Given the description of an element on the screen output the (x, y) to click on. 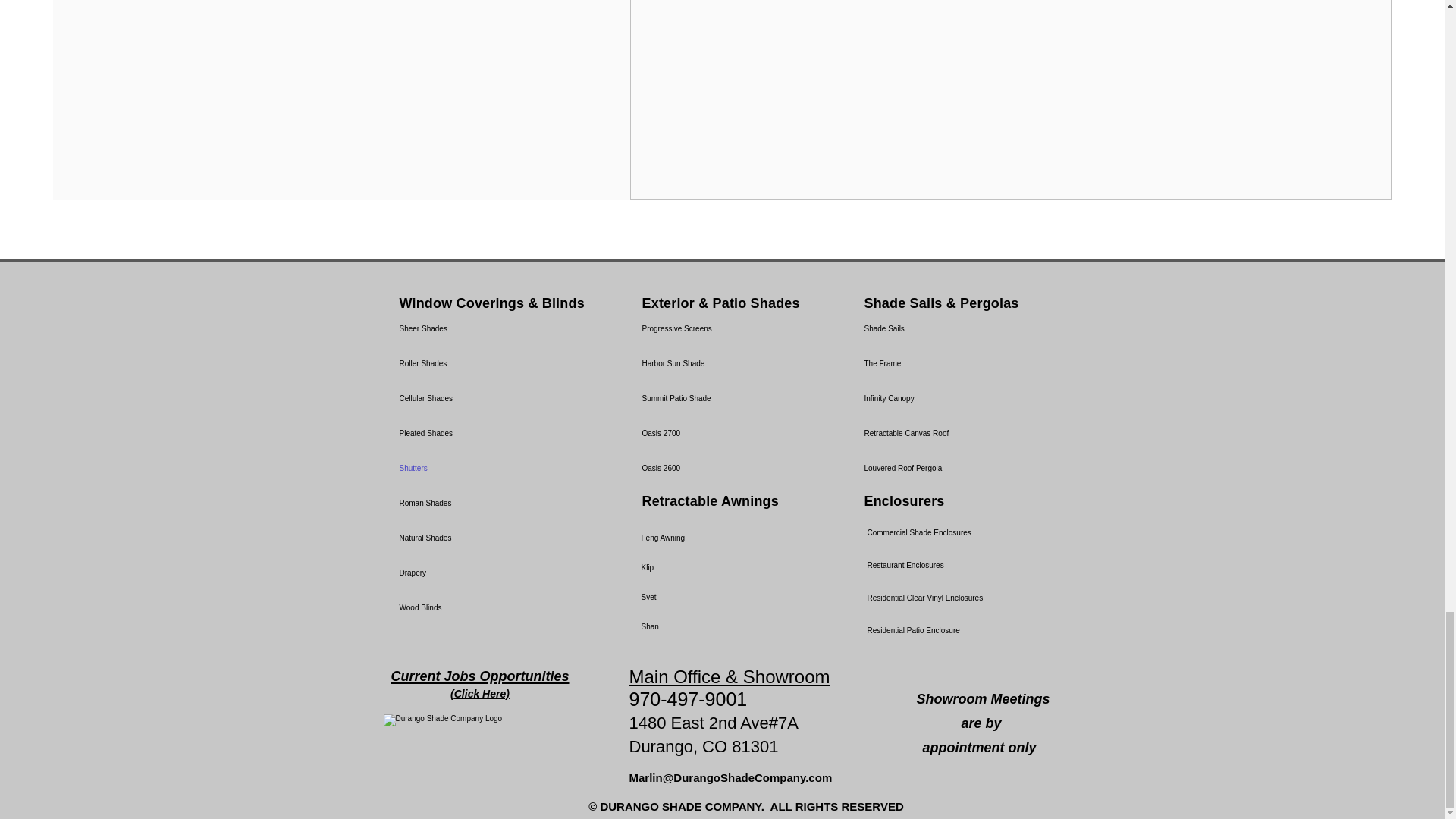
Progressive Screens (734, 329)
Current Jobs Opportunities (479, 674)
Louvered Roof Pergola (917, 468)
Oasis 2600 (734, 468)
Svet (695, 596)
Sheer Shades (490, 329)
Klip (695, 567)
Roller Shades (490, 363)
Drapery (490, 573)
Residential Clear Vinyl Enclosures (920, 597)
